Given the description of an element on the screen output the (x, y) to click on. 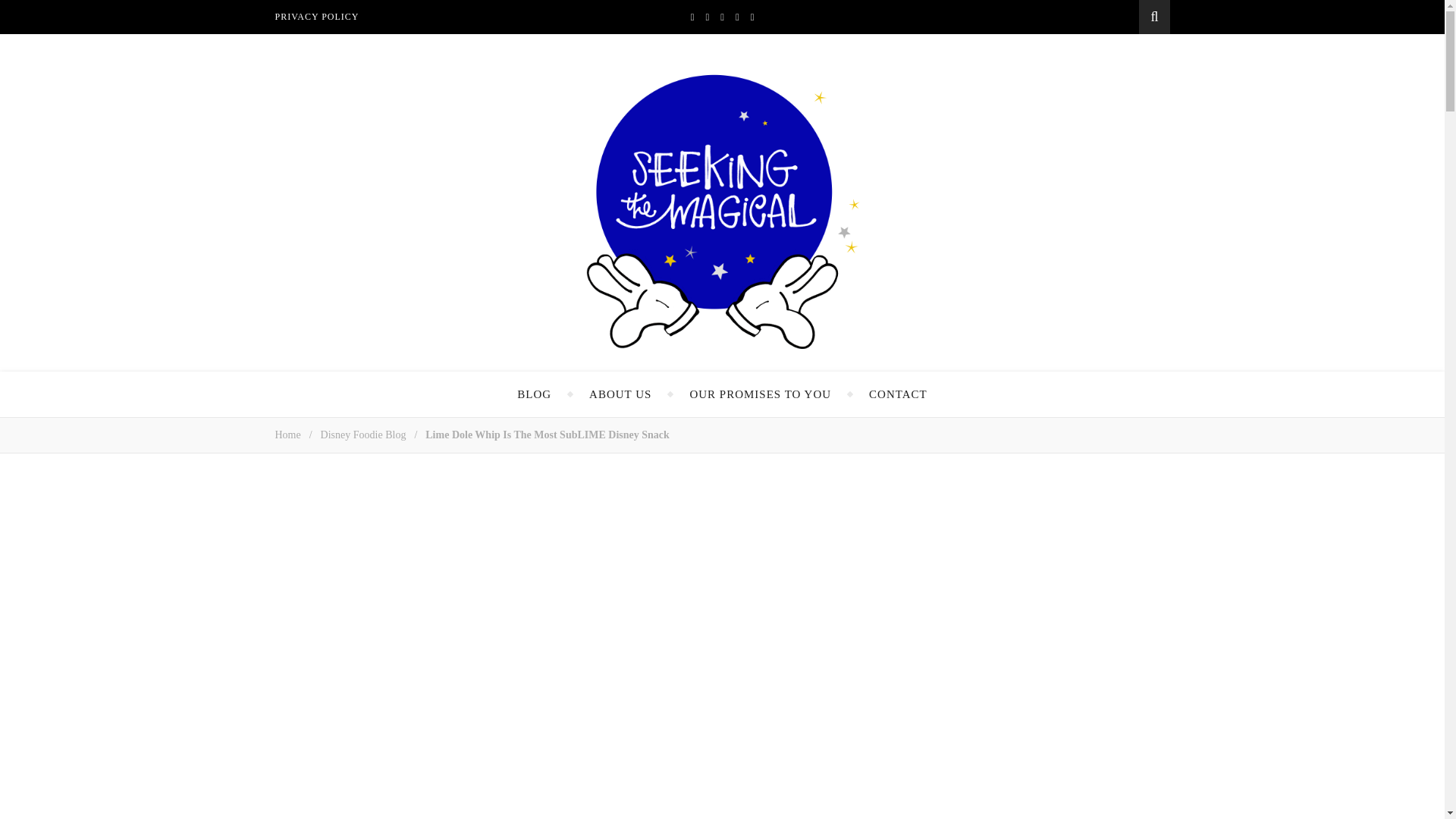
Seeking the Magical (722, 213)
Disney Foodie Blog (363, 434)
Disney Foodie Blog (363, 434)
Home (287, 434)
Sign up (1037, 687)
ABOUT US (619, 393)
Home (287, 434)
OUR PROMISES TO YOU (759, 393)
CONTACT (898, 393)
PRIVACY POLICY (322, 17)
